Given the description of an element on the screen output the (x, y) to click on. 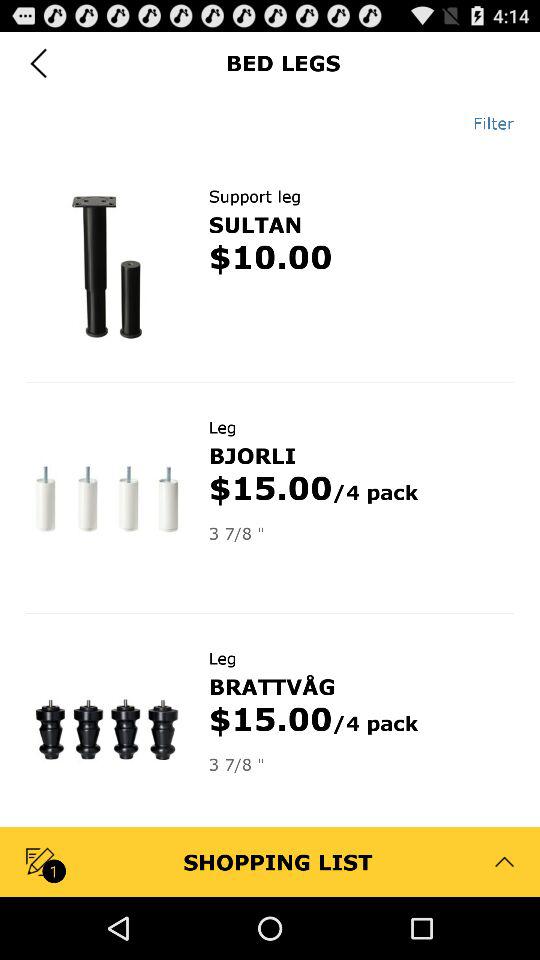
turn off the icon above 15 00 4 item (271, 686)
